Given the description of an element on the screen output the (x, y) to click on. 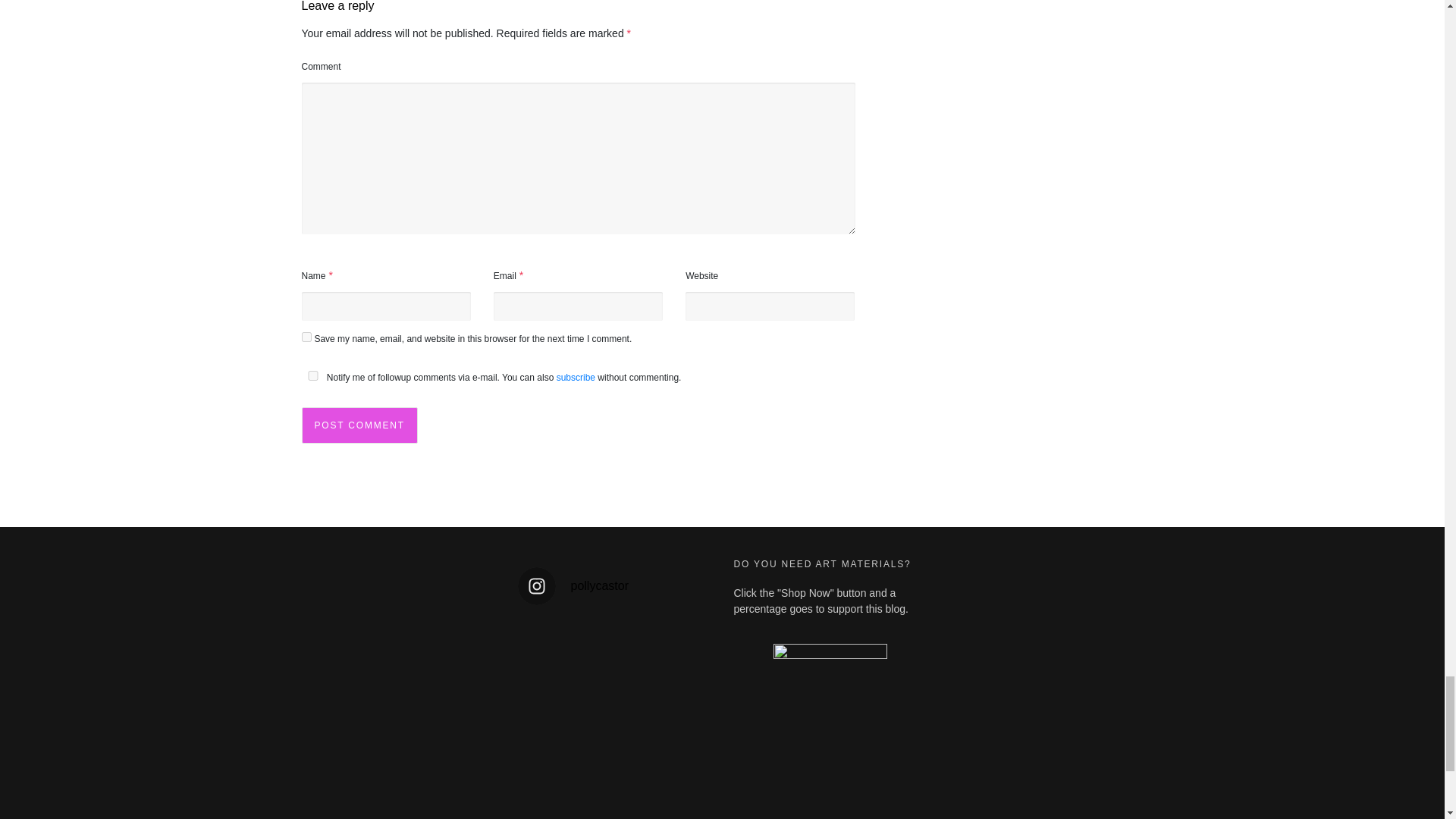
yes (312, 375)
Post comment (359, 425)
yes (306, 337)
